Given the description of an element on the screen output the (x, y) to click on. 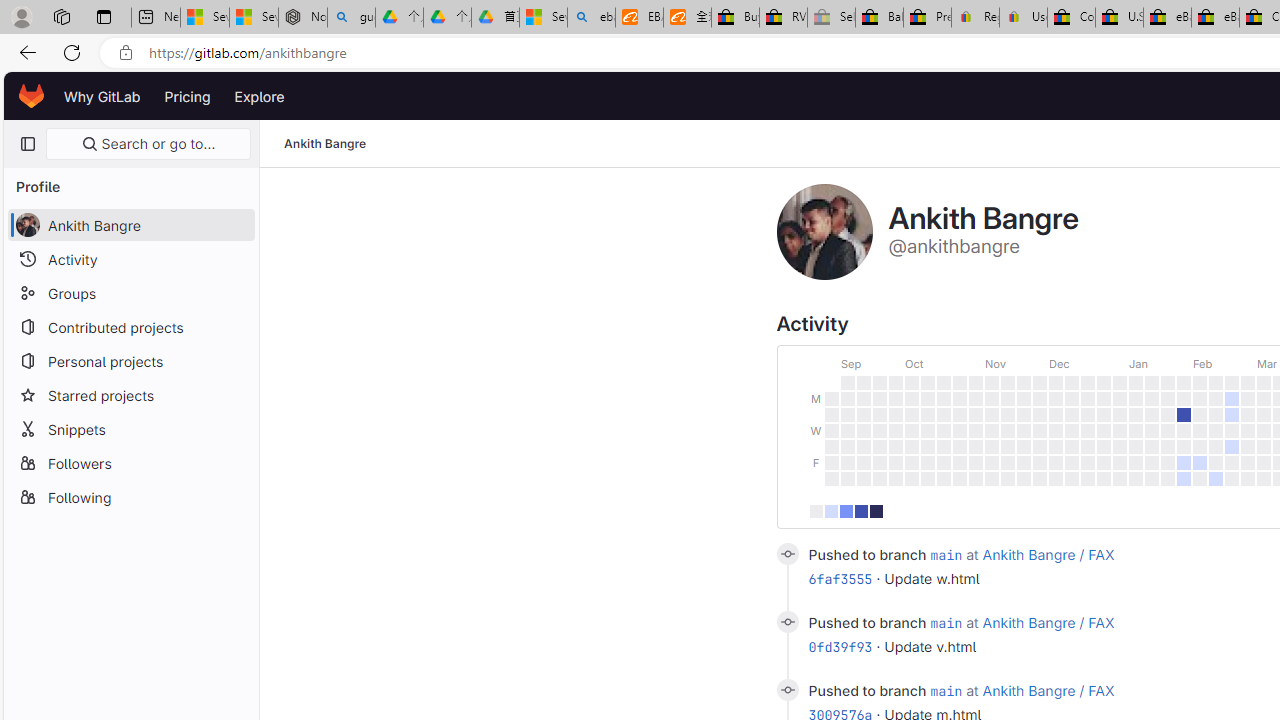
Why GitLab (102, 95)
Personal projects (130, 360)
